Given the description of an element on the screen output the (x, y) to click on. 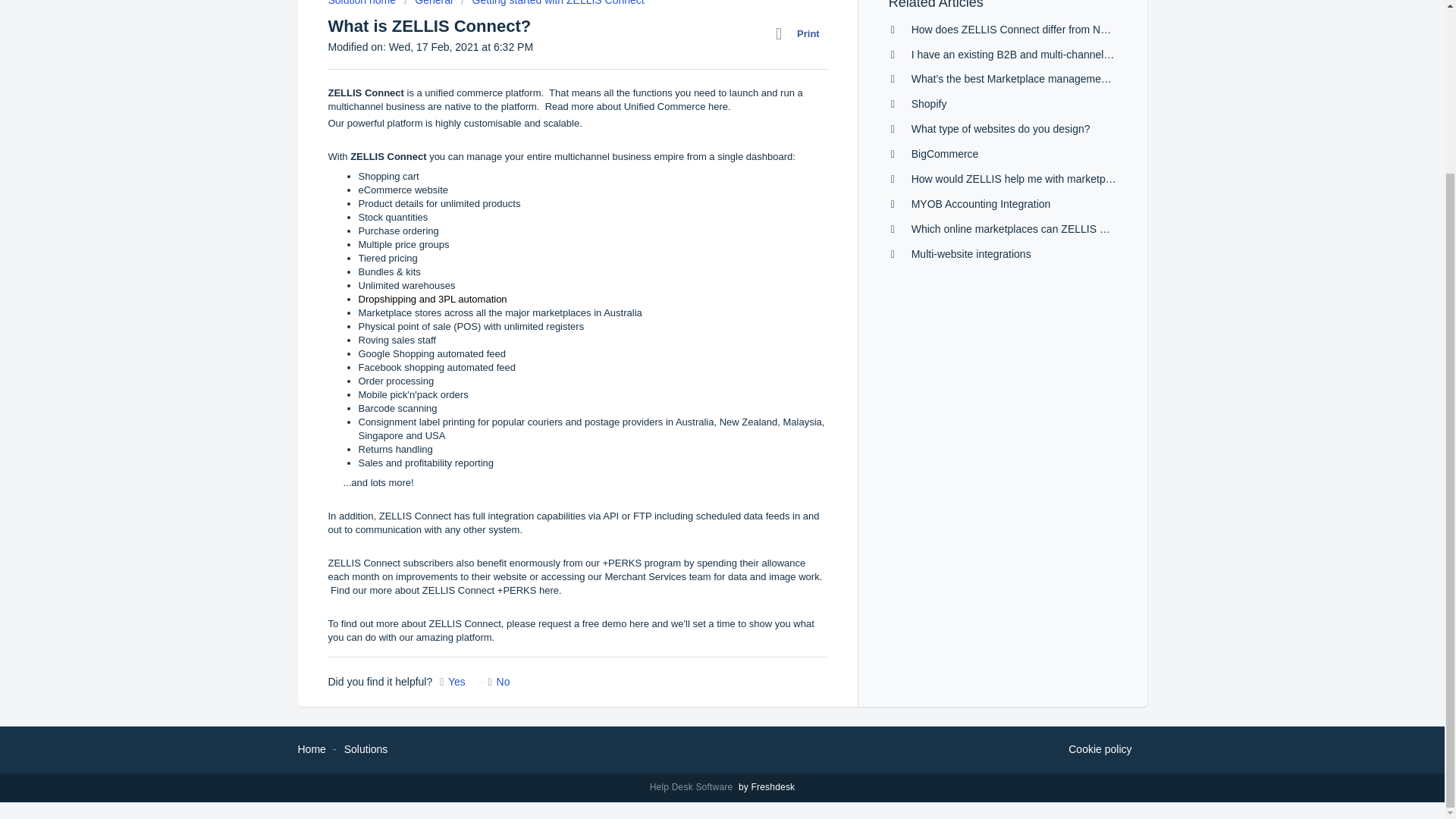
Shopify (929, 103)
BigCommerce (944, 153)
What type of websites do you design? (1000, 128)
MYOB Accounting Integration (981, 203)
Unified Commerce here (676, 106)
Print (801, 34)
Solution home (362, 2)
Solutions (365, 748)
Chat (1406, 568)
Cookie policy (1099, 750)
Multi-website integrations (970, 254)
Why we love Cookies (1099, 750)
Home (310, 748)
Getting started with ZELLIS Connect (553, 2)
